Given the description of an element on the screen output the (x, y) to click on. 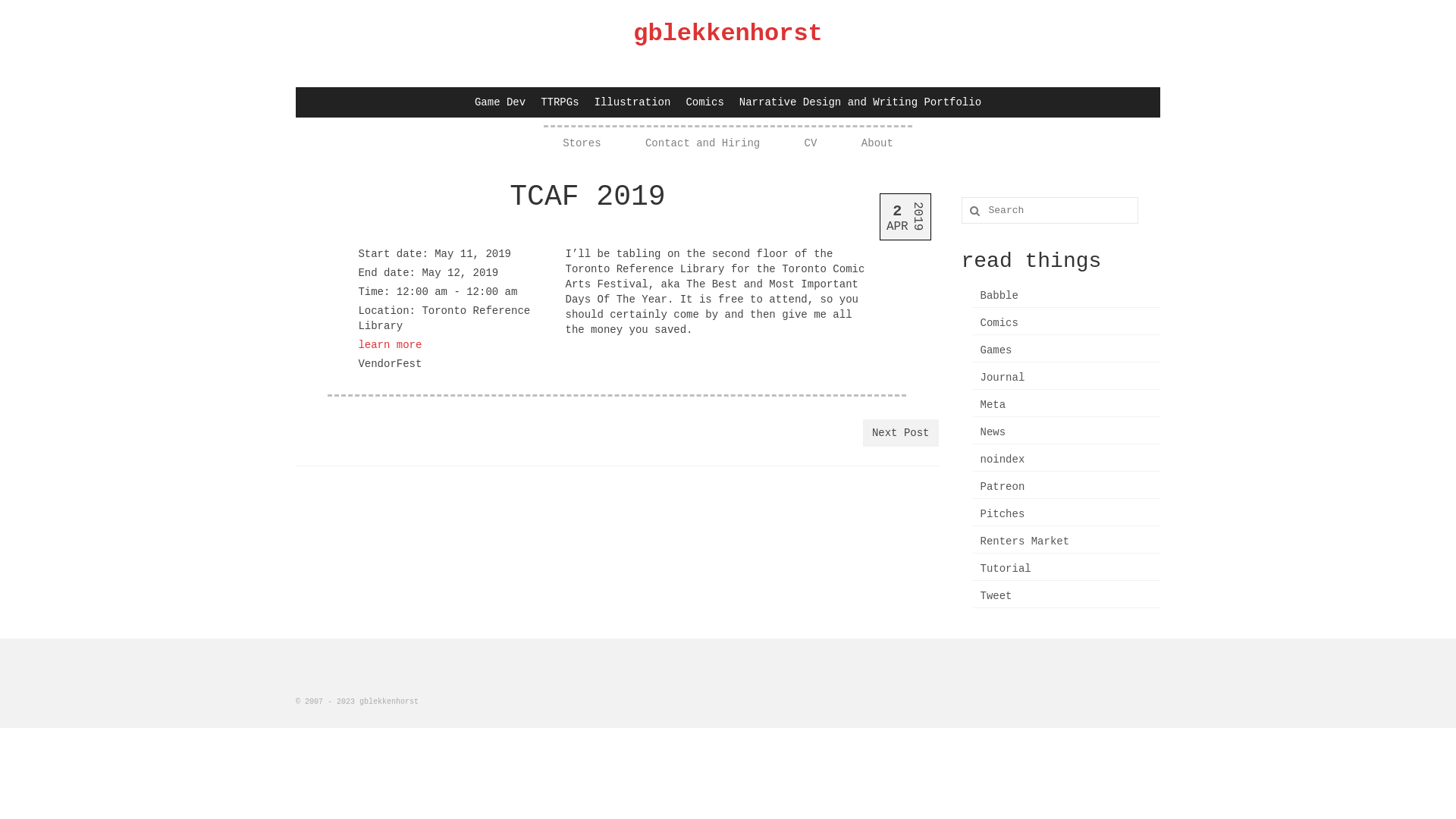
Tutorial Element type: text (1066, 568)
Tweet Element type: text (1066, 596)
Pitches Element type: text (1066, 514)
noindex Element type: text (1066, 459)
Next Post Element type: text (900, 432)
News Element type: text (1066, 432)
Narrative Design and Writing Portfolio Element type: text (859, 102)
Stores Element type: text (581, 143)
Babble Element type: text (1066, 295)
gblekkenhorst Element type: text (727, 33)
Illustration Element type: text (632, 102)
Patreon Element type: text (1066, 486)
Renters Market Element type: text (1066, 541)
learn more Element type: text (389, 344)
TTRPGs Element type: text (559, 102)
About Element type: text (877, 143)
Journal Element type: text (1066, 377)
Comics Element type: text (704, 102)
Comics Element type: text (1066, 323)
Games Element type: text (1066, 350)
Meta Element type: text (1066, 405)
Game Dev Element type: text (500, 102)
CV Element type: text (810, 143)
Contact and Hiring Element type: text (702, 143)
